Given the description of an element on the screen output the (x, y) to click on. 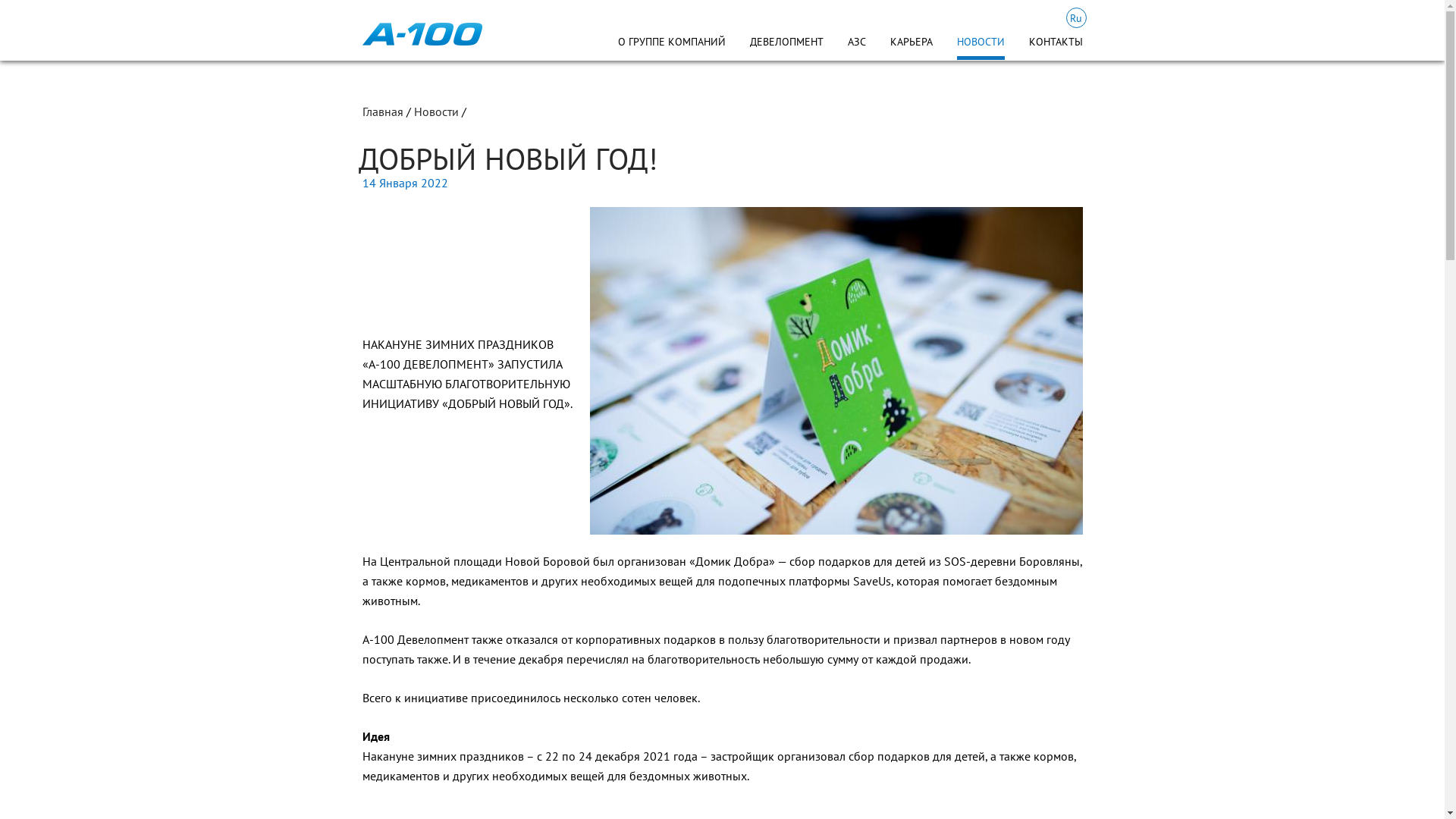
Ru Element type: text (1076, 17)
